Given the description of an element on the screen output the (x, y) to click on. 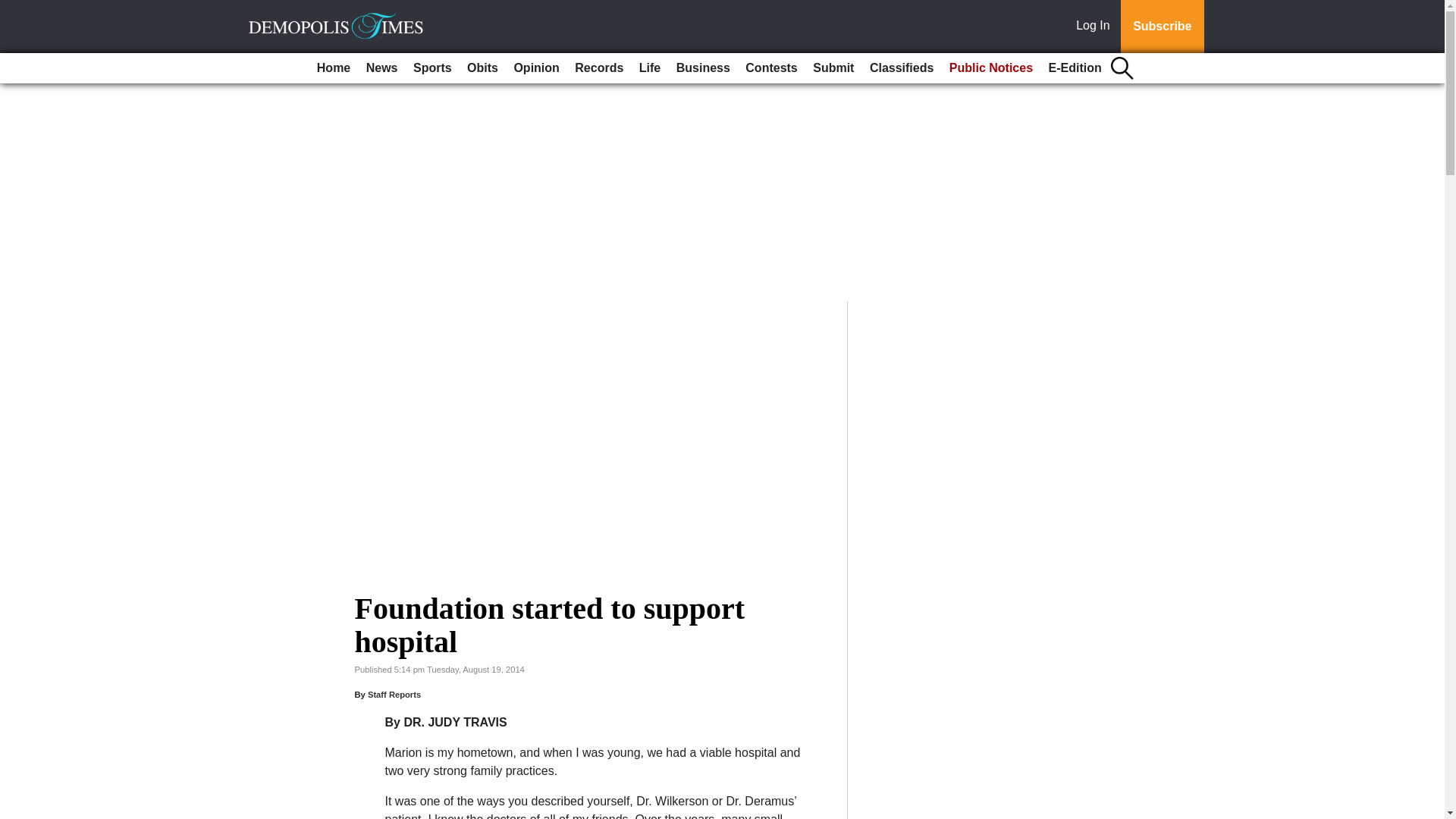
Opinion (535, 68)
Records (598, 68)
Life (649, 68)
Public Notices (991, 68)
Contests (771, 68)
News (381, 68)
Sports (432, 68)
Business (702, 68)
Log In (1095, 26)
Subscribe (1162, 26)
Go (13, 9)
Submit (833, 68)
Staff Reports (394, 694)
Classifieds (901, 68)
Home (333, 68)
